Given the description of an element on the screen output the (x, y) to click on. 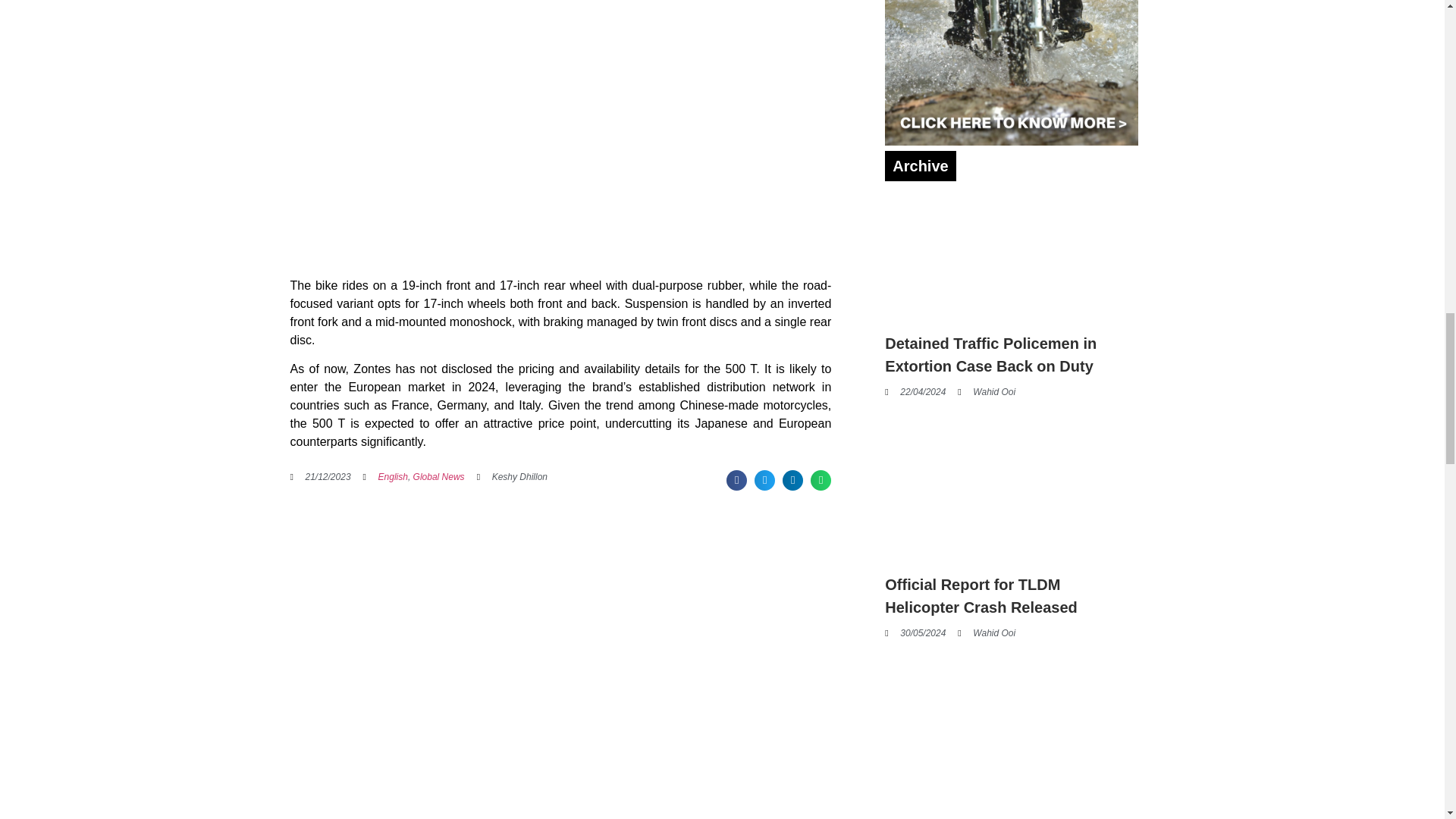
Global News (438, 476)
English (392, 476)
Keshy Dhillon (512, 477)
